Given the description of an element on the screen output the (x, y) to click on. 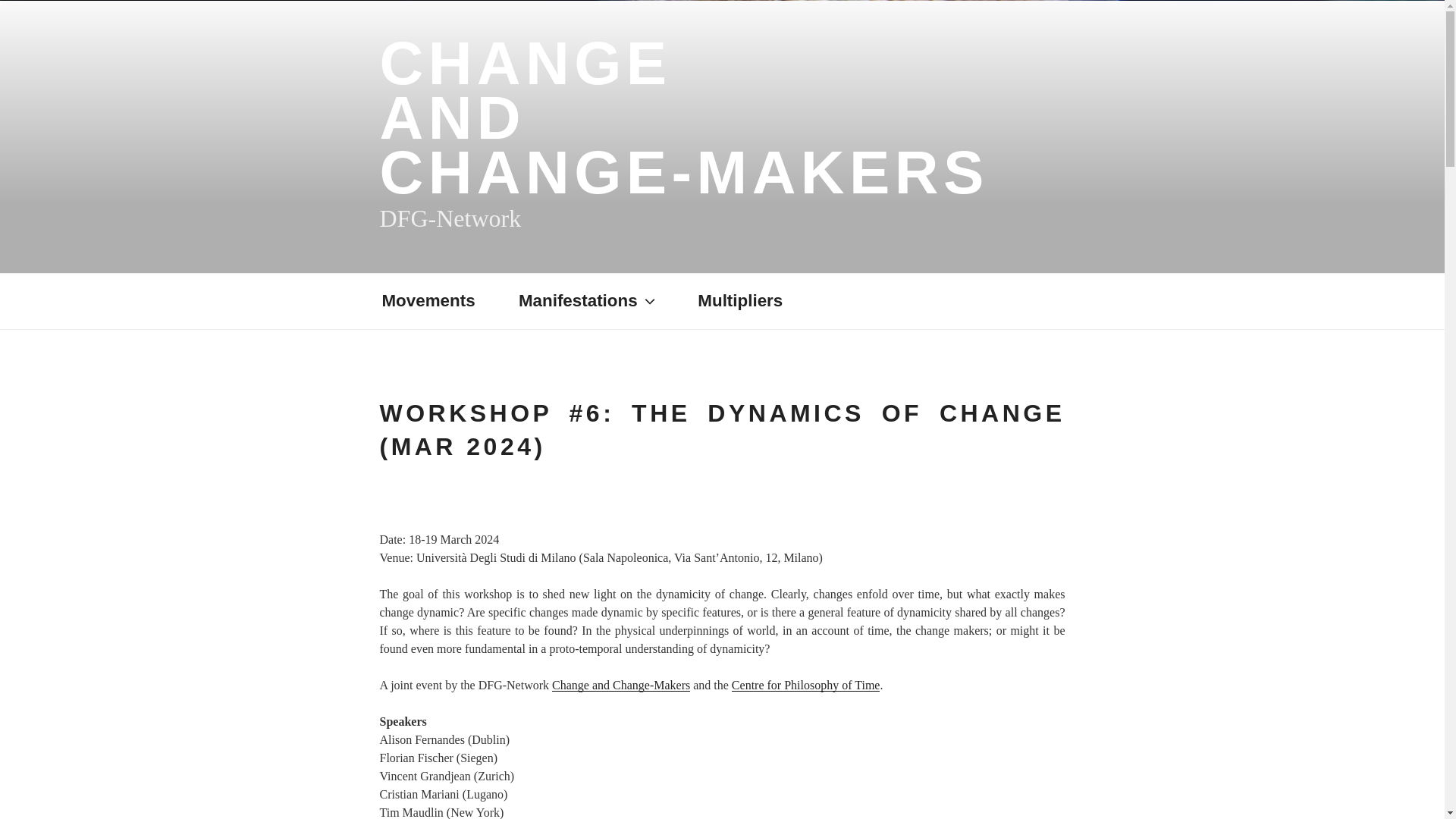
Centre for Philosophy of Time (806, 684)
Change and Change-Makers (620, 684)
Manifestations (600, 301)
Movements (441, 301)
Multipliers (683, 117)
